Given the description of an element on the screen output the (x, y) to click on. 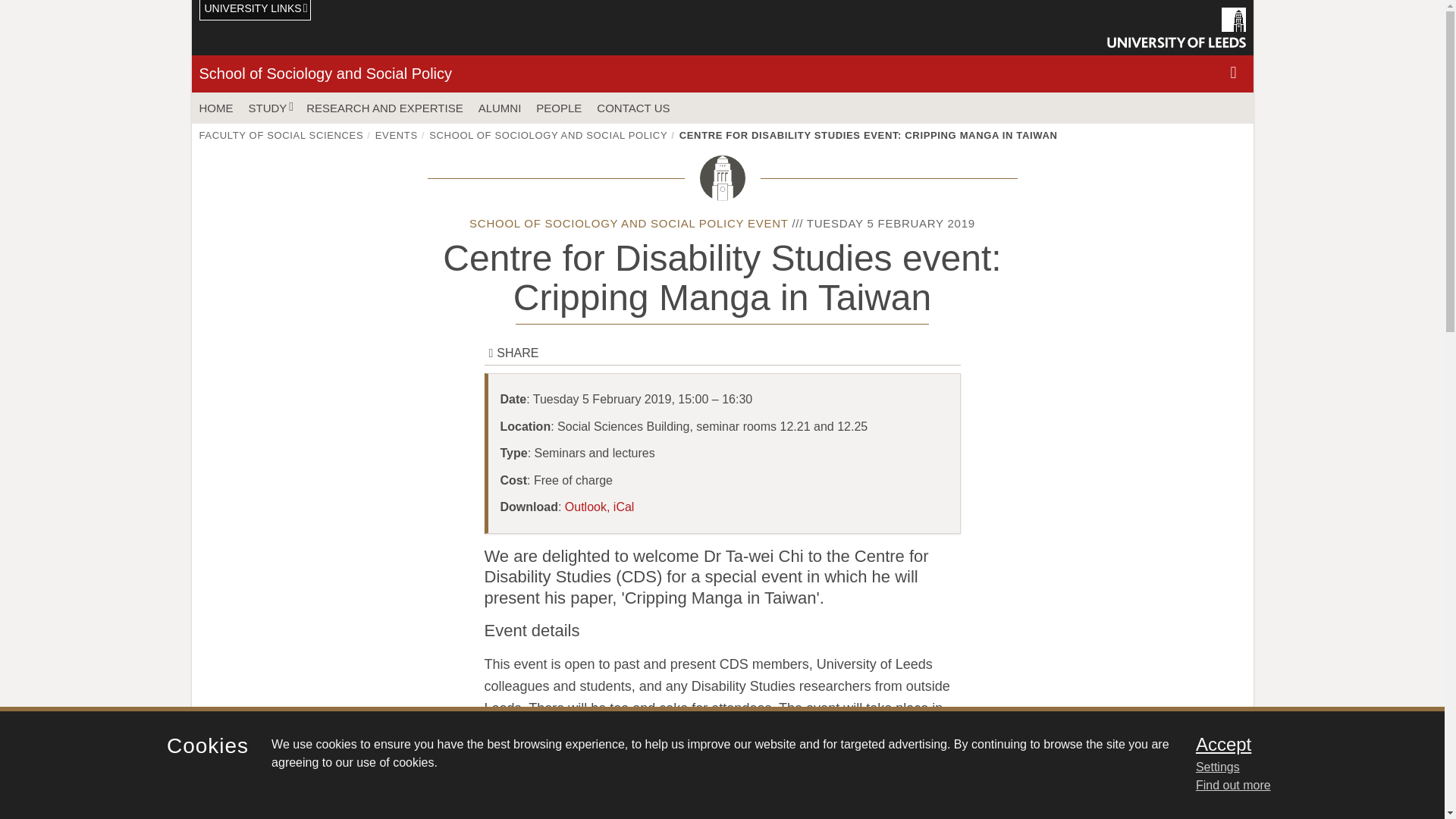
University of Leeds homepage (1176, 27)
Settings (1300, 767)
UNIVERSITY LINKS (254, 10)
Find out more (1233, 784)
Accept (1300, 744)
